Given the description of an element on the screen output the (x, y) to click on. 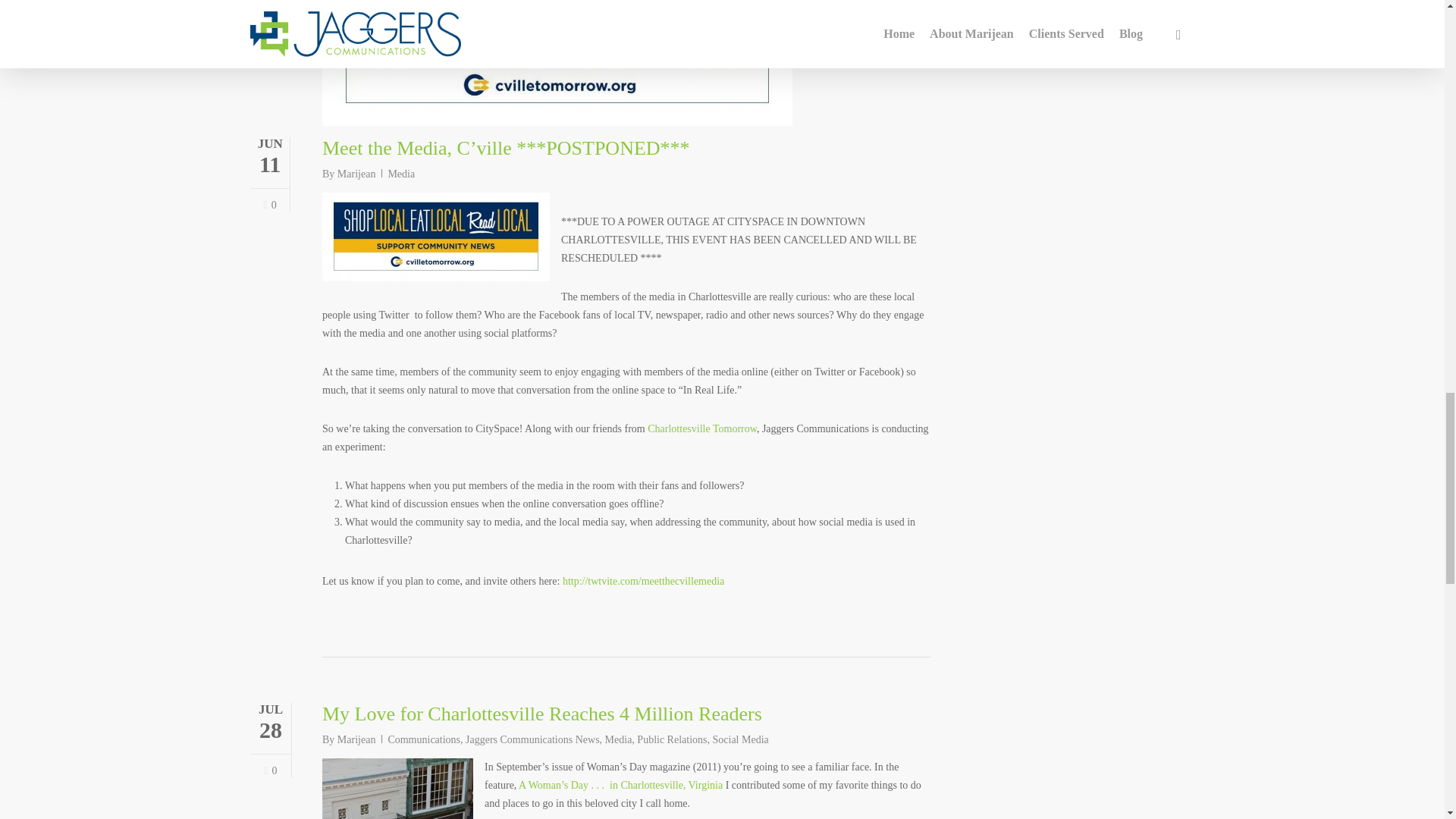
cville tomorrow (556, 63)
Love this (269, 205)
Posts by Marijean (356, 739)
Love this (269, 771)
Posts by Marijean (356, 173)
CDS-102 (397, 788)
cville tomorrow (435, 236)
